Given the description of an element on the screen output the (x, y) to click on. 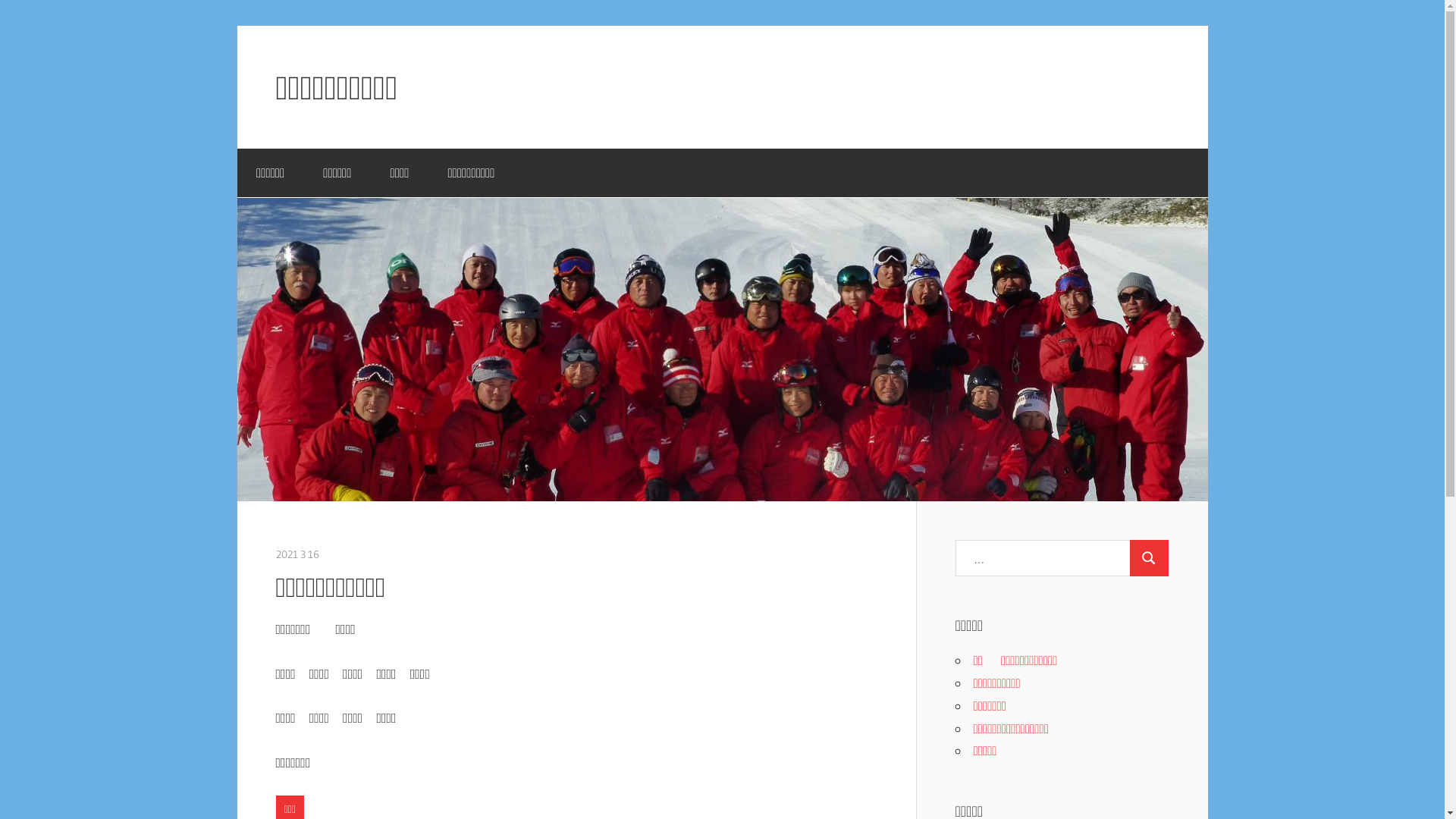
katohideo Element type: text (343, 554)
